Given the description of an element on the screen output the (x, y) to click on. 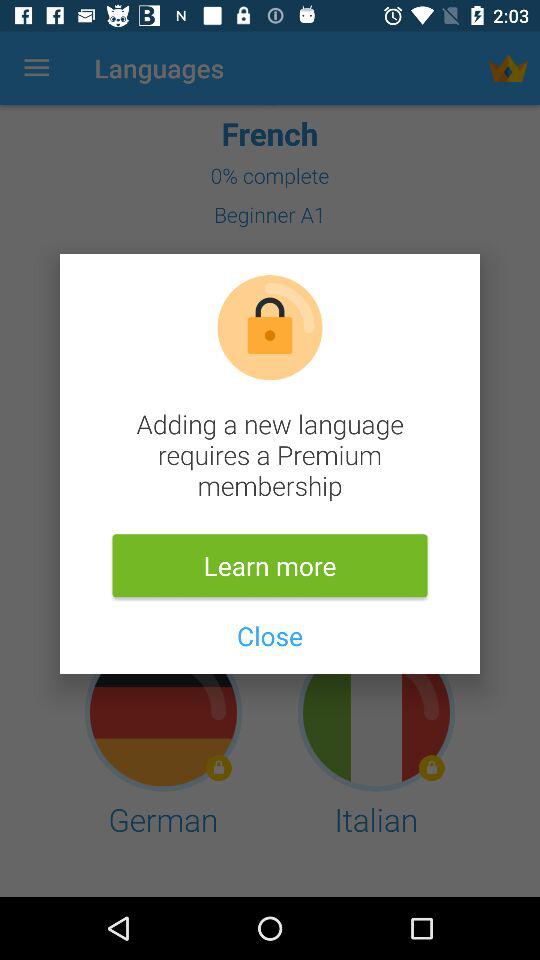
click the item below learn more icon (269, 635)
